Given the description of an element on the screen output the (x, y) to click on. 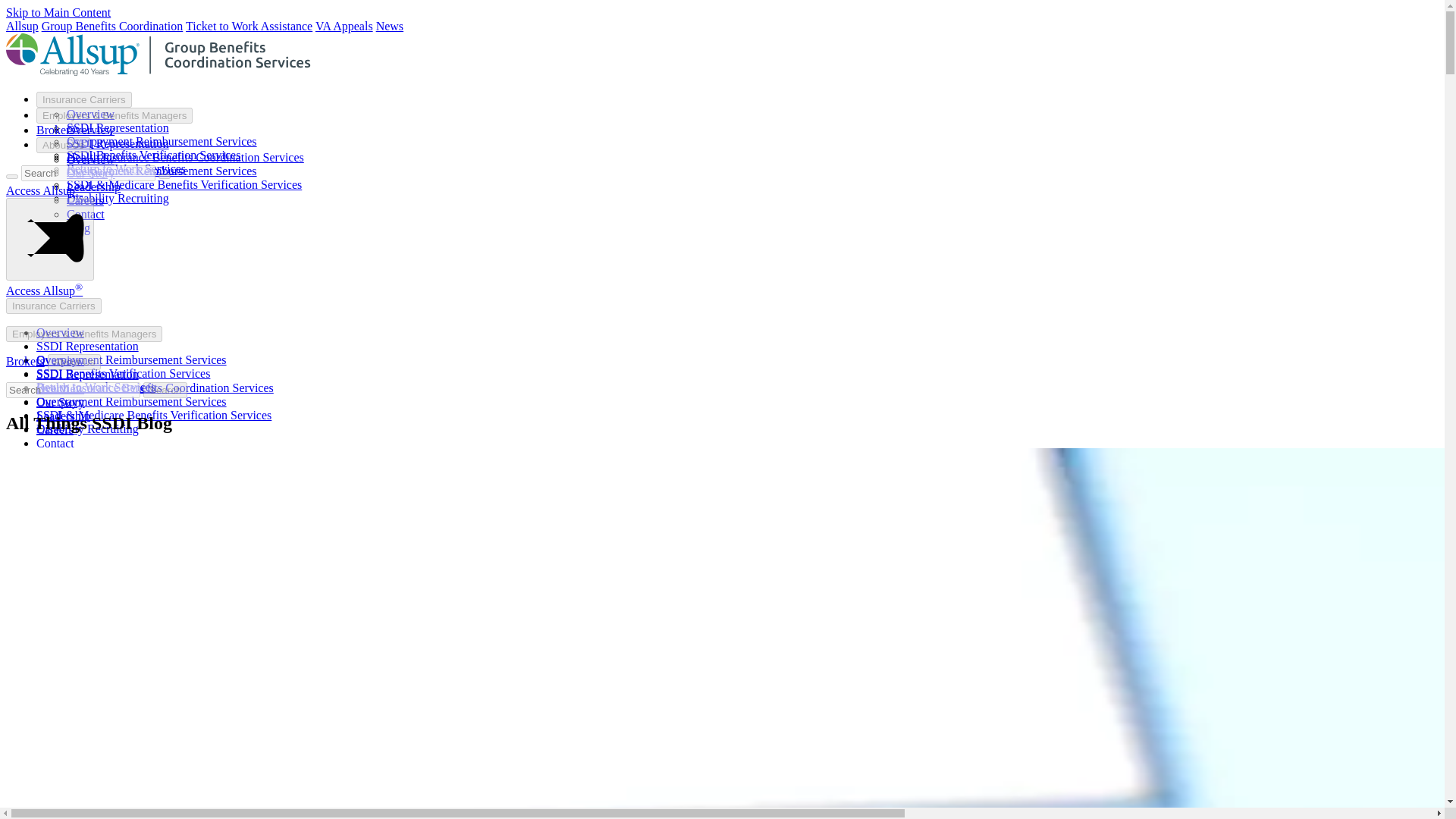
Overview (60, 332)
Insurance Carriers (53, 305)
Overview (90, 159)
Group Benefits Coordination (112, 25)
Access Allsup Login (43, 190)
Contact (85, 214)
Leadership (93, 186)
Newsroom (389, 25)
Allsup (22, 25)
Overview (90, 113)
About Us (63, 145)
Blog overview page (47, 456)
SSDI Representation (117, 143)
SSDI Benefits Verification Services (153, 154)
Health Insurance Benefits Coordination Services (185, 156)
